Given the description of an element on the screen output the (x, y) to click on. 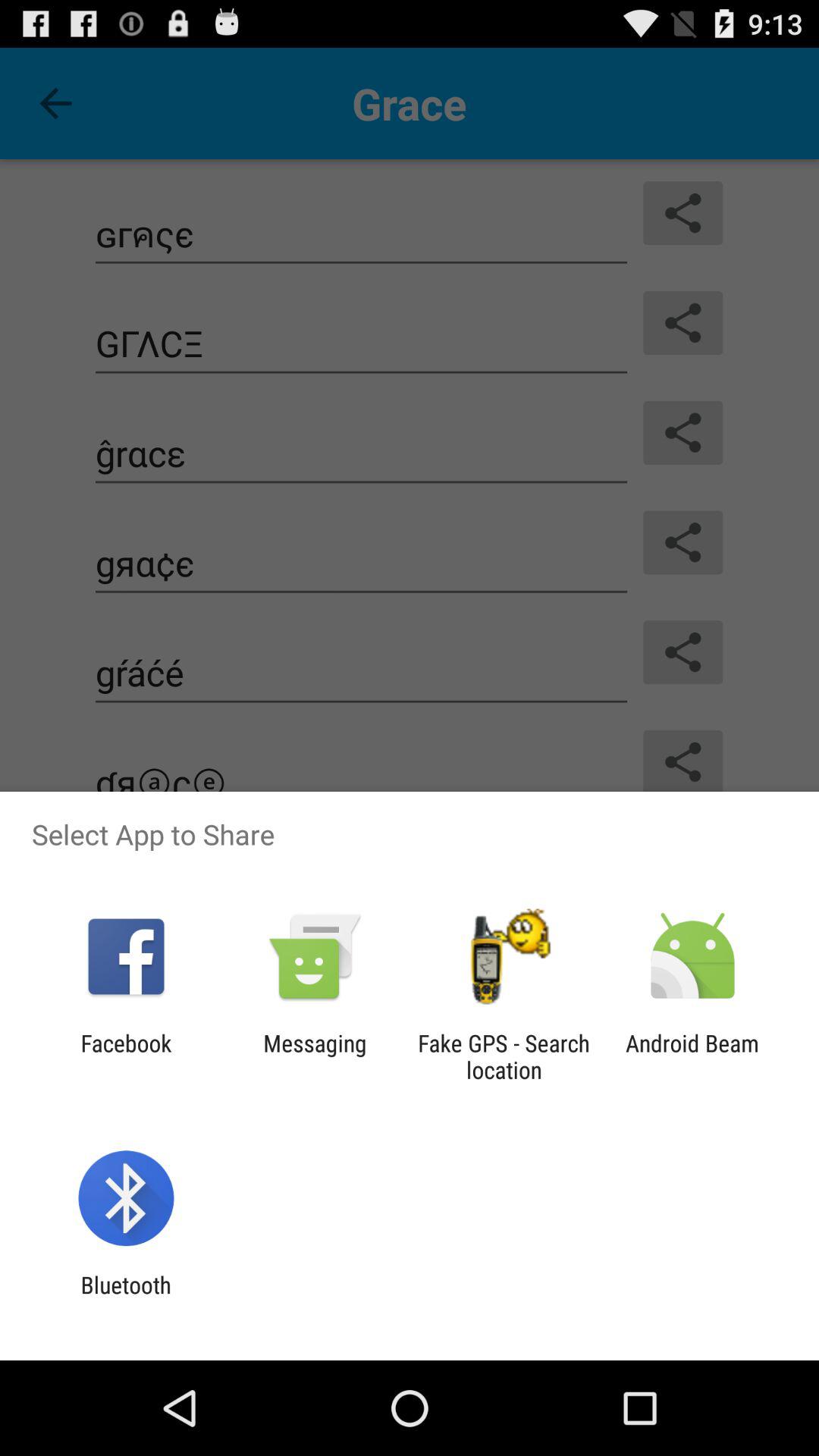
turn on messaging (314, 1056)
